Given the description of an element on the screen output the (x, y) to click on. 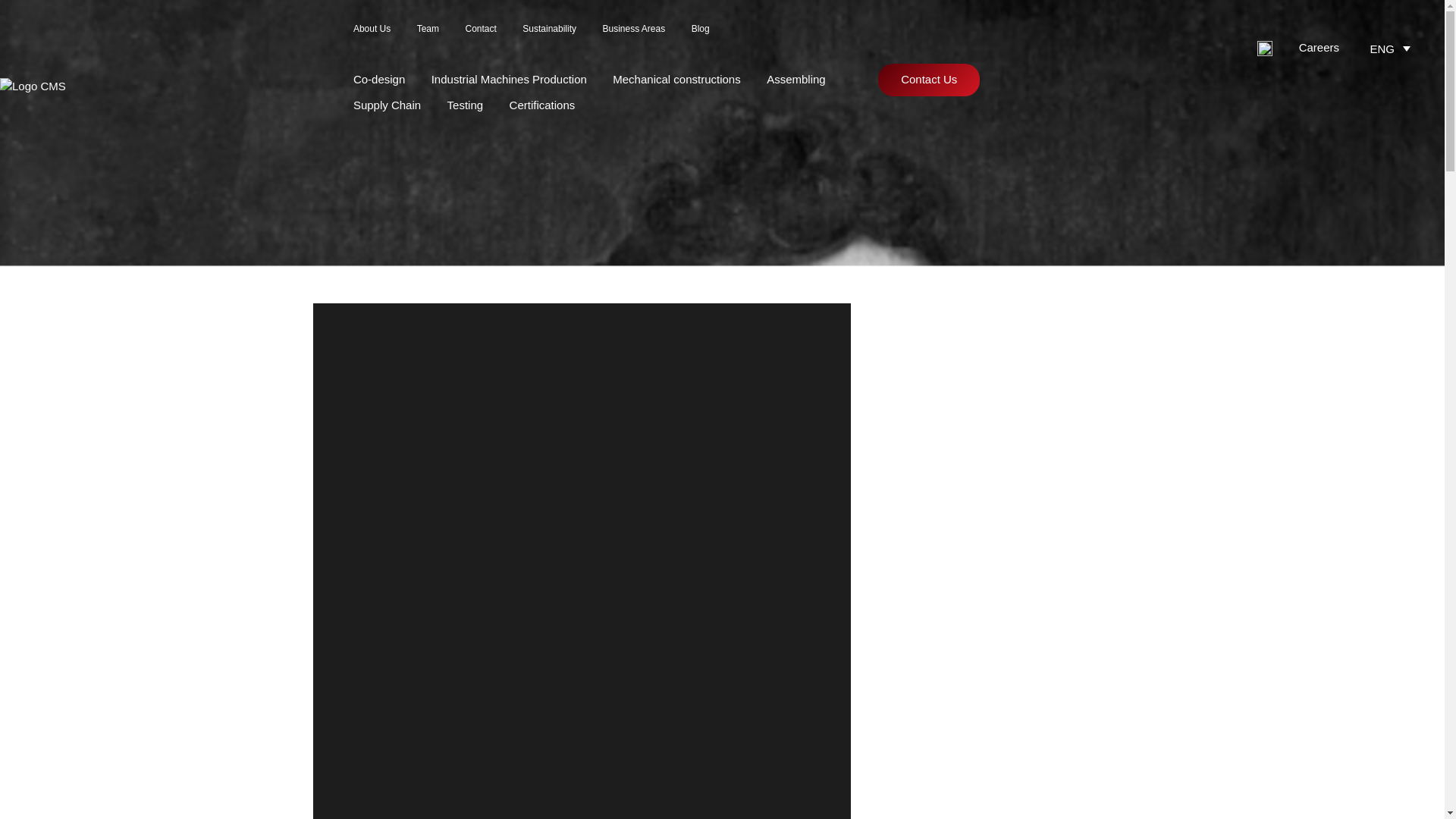
Industrial Machines Production (508, 78)
Co-design (378, 78)
Testing (464, 104)
Blog (700, 28)
Assembling (796, 78)
Contact (480, 28)
About Us (371, 28)
Sustainability (549, 28)
Business Areas (633, 28)
Certifications (542, 104)
Careers (1318, 47)
Mechanical constructions (675, 78)
Team (427, 28)
Contact Us (928, 79)
ENG (1391, 47)
